Given the description of an element on the screen output the (x, y) to click on. 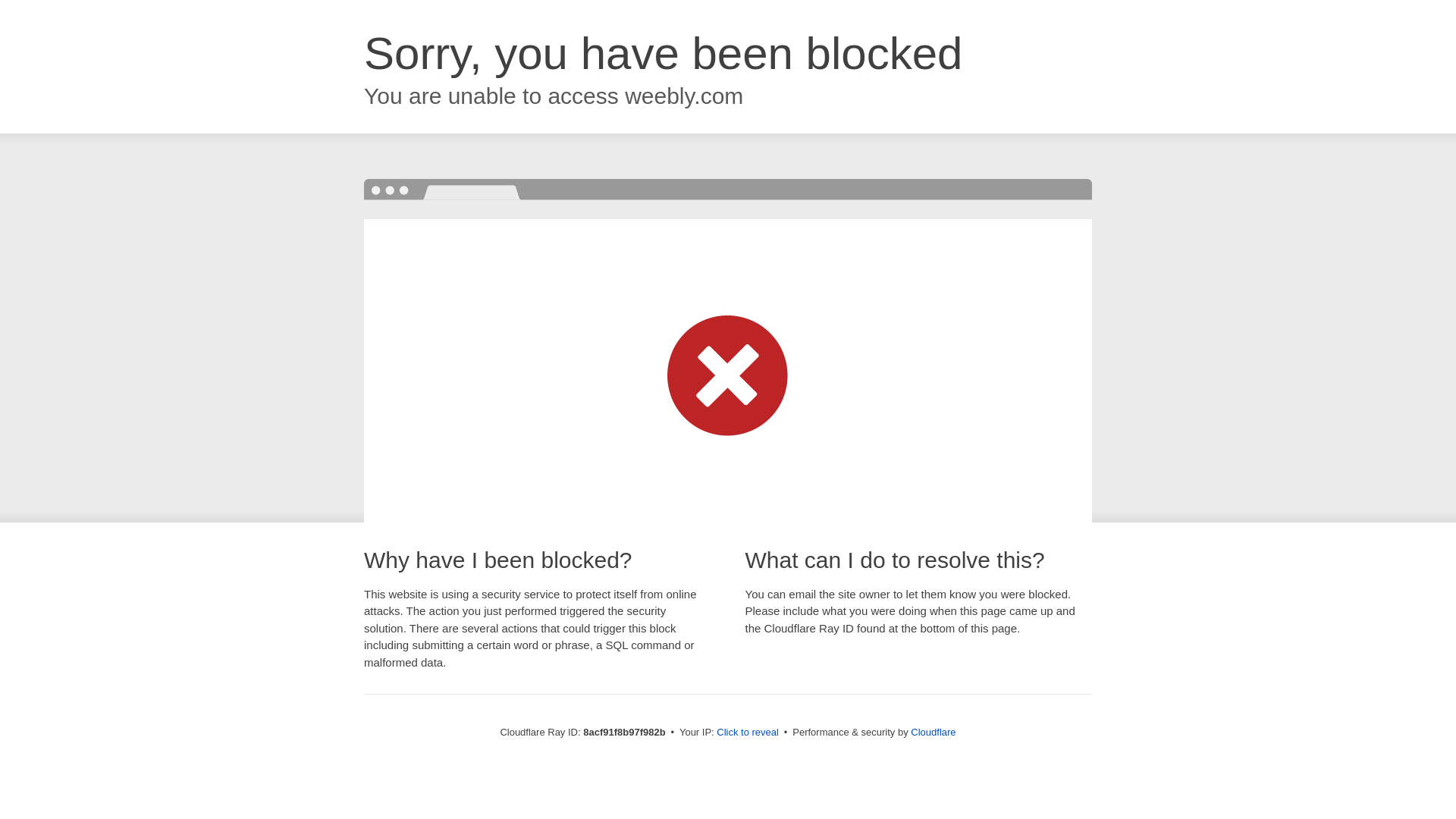
Cloudflare (933, 731)
Click to reveal (747, 732)
